Given the description of an element on the screen output the (x, y) to click on. 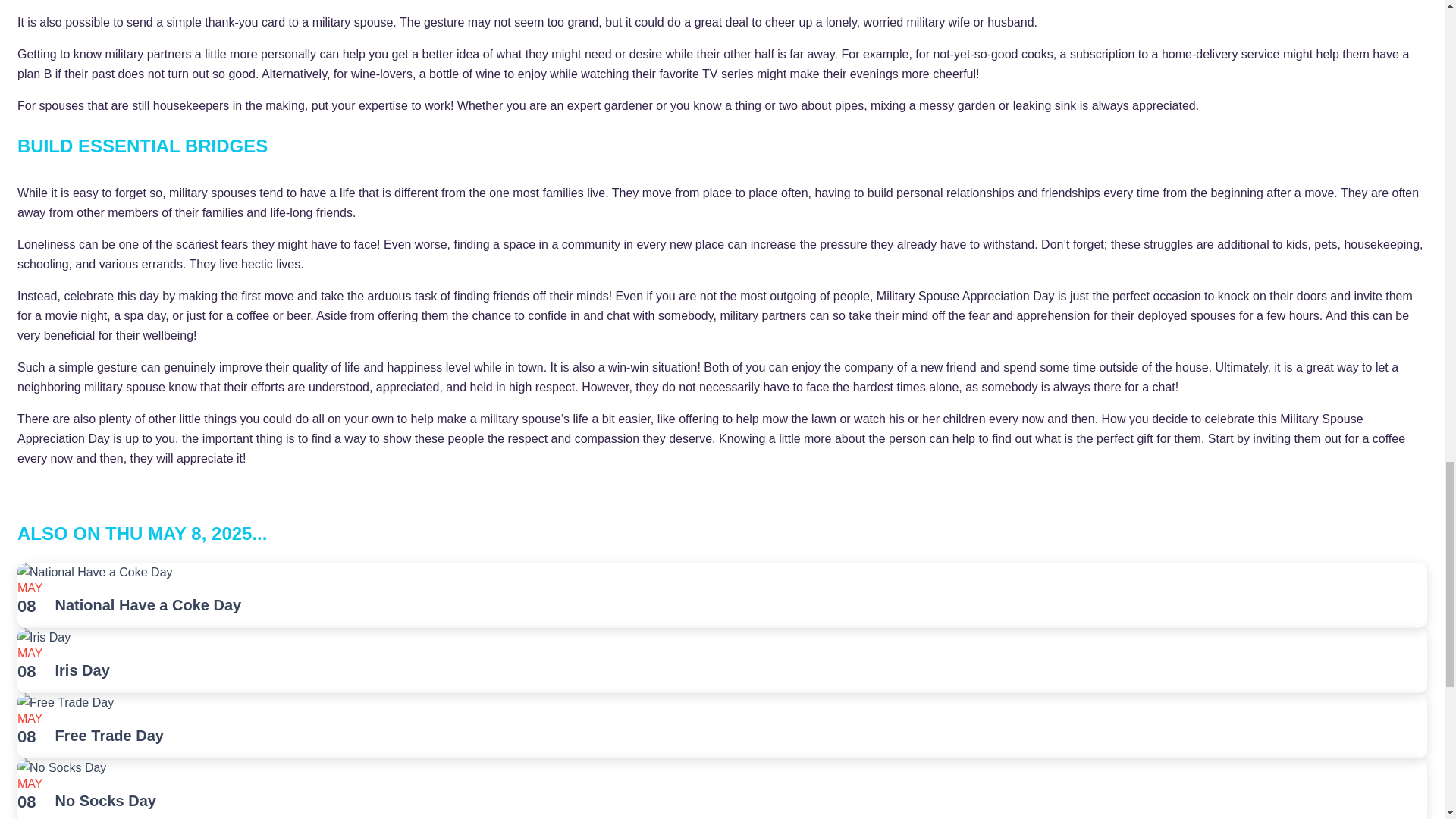
Free Trade Day (109, 735)
No Socks Day (105, 800)
Iris Day (82, 670)
National Have a Coke Day (148, 604)
